Given the description of an element on the screen output the (x, y) to click on. 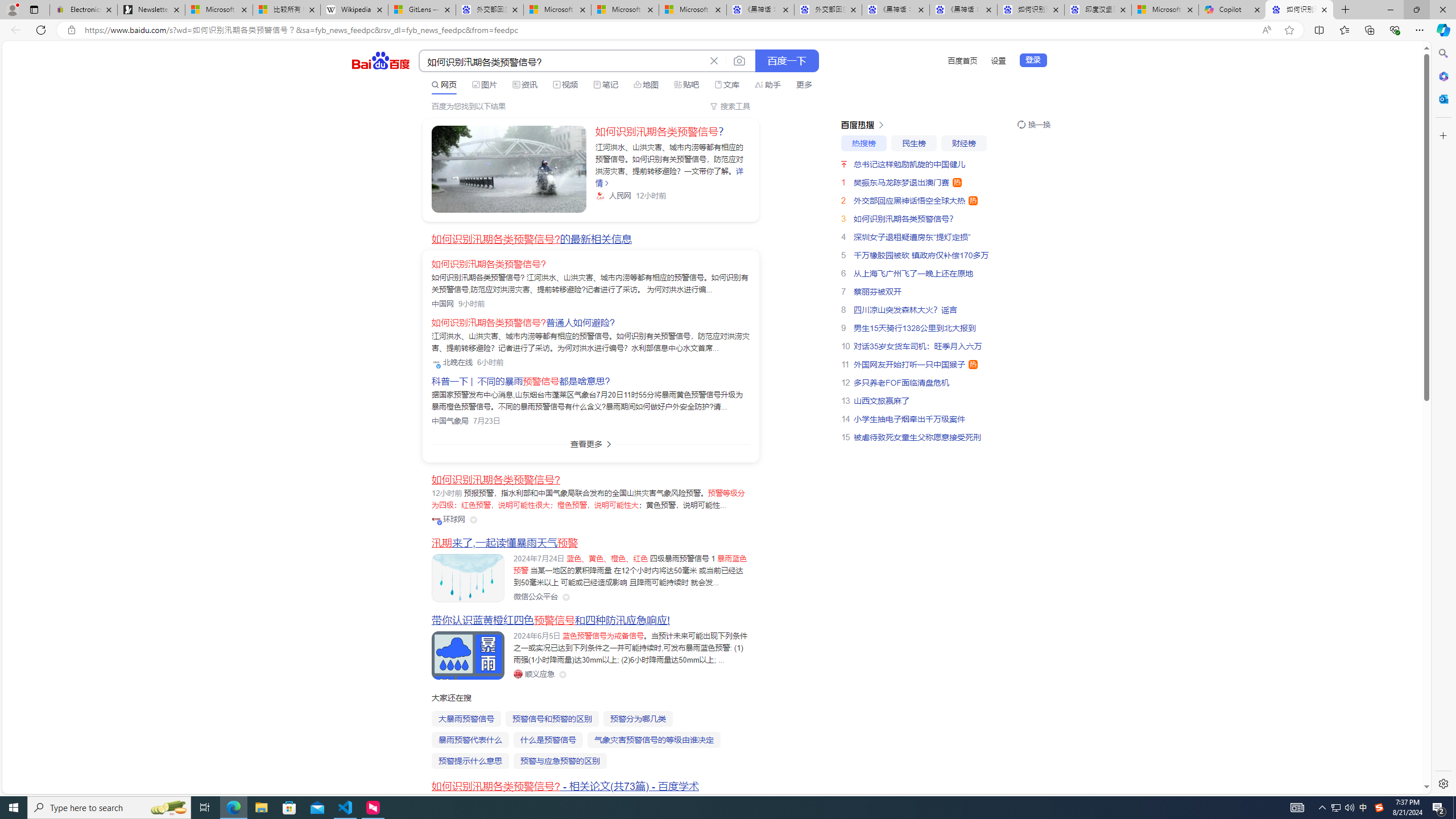
Class: siteLink_9TPP3 (533, 673)
Copilot (1232, 9)
Electronics, Cars, Fashion, Collectibles & More | eBay (83, 9)
